Given the description of an element on the screen output the (x, y) to click on. 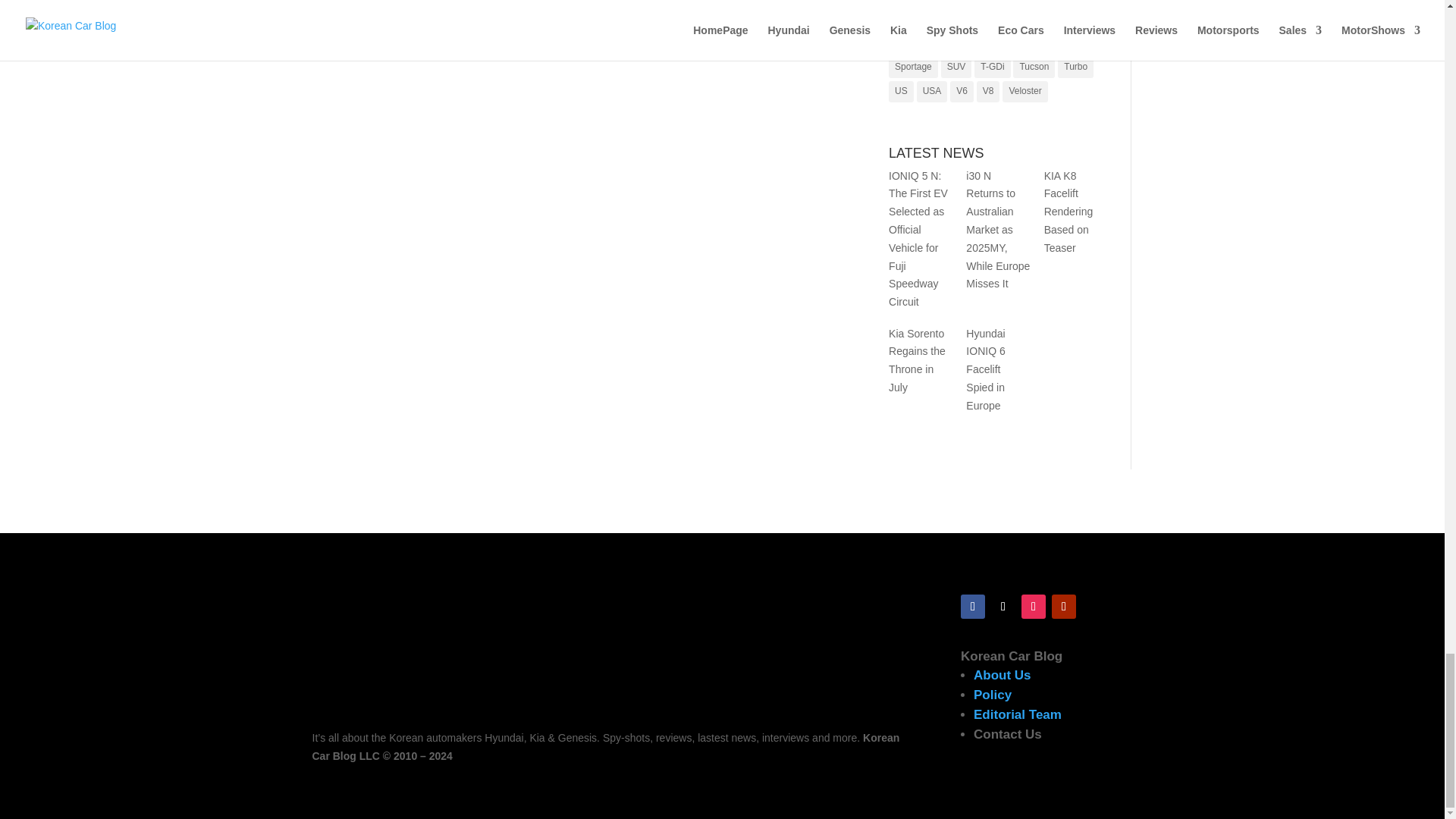
Follow on Facebook (972, 606)
Follow on X (1002, 606)
Follow on Instagram (1033, 606)
